Given the description of an element on the screen output the (x, y) to click on. 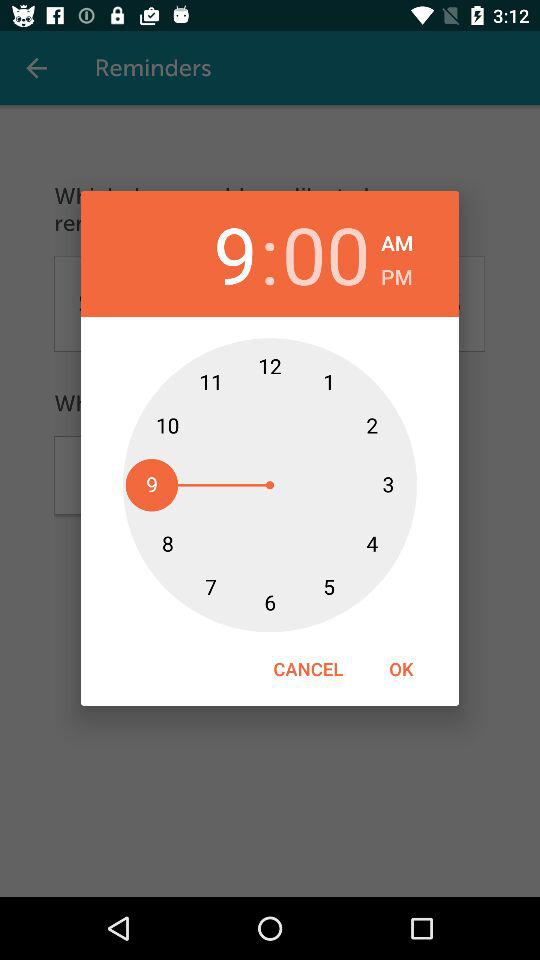
press the ok (401, 668)
